Given the description of an element on the screen output the (x, y) to click on. 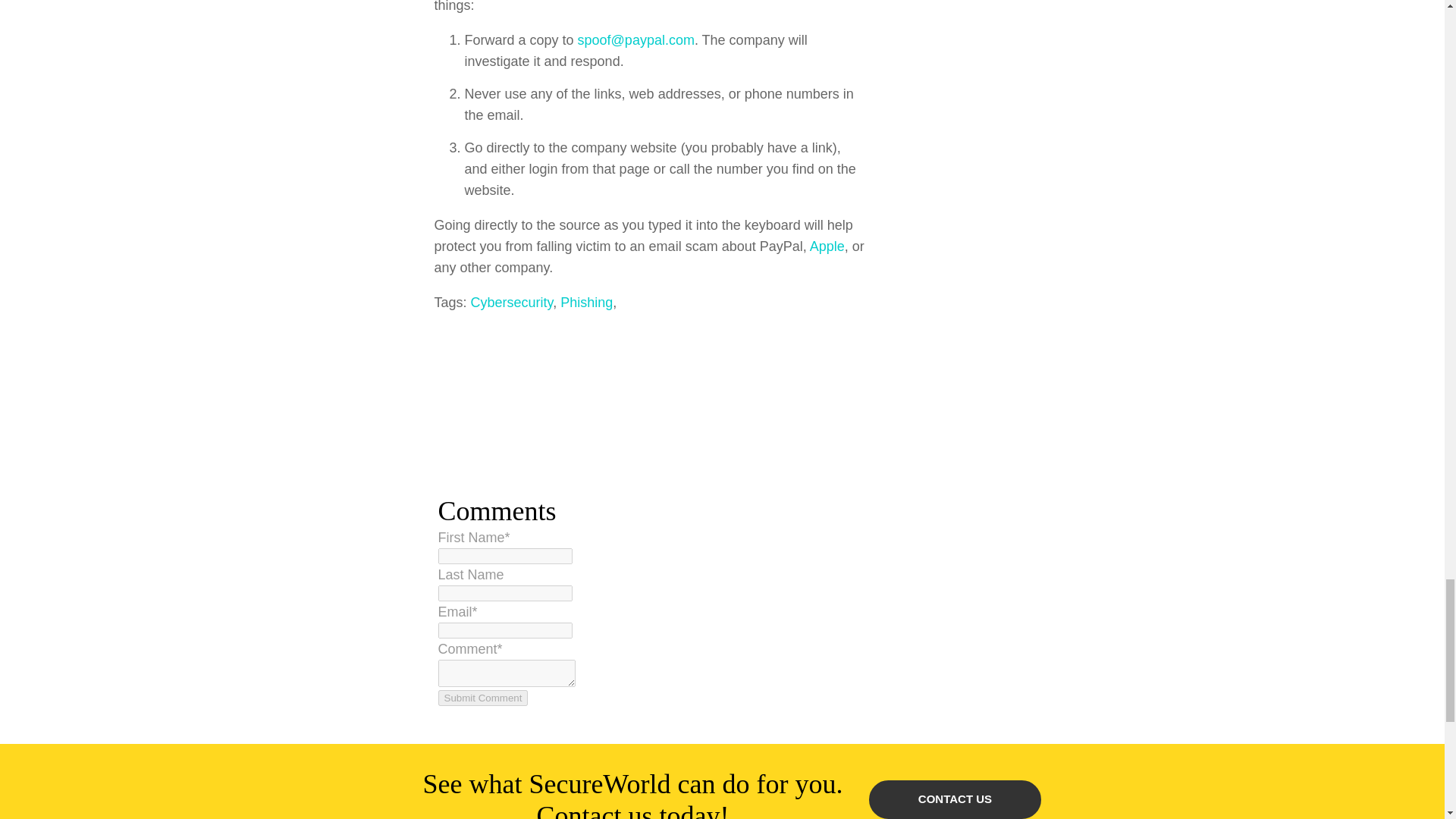
Cybersecurity (511, 302)
Phishing (586, 302)
Contact us (955, 799)
CONTACT US (955, 799)
Apple (826, 246)
Submit Comment (483, 697)
Submit Comment (483, 697)
